Given the description of an element on the screen output the (x, y) to click on. 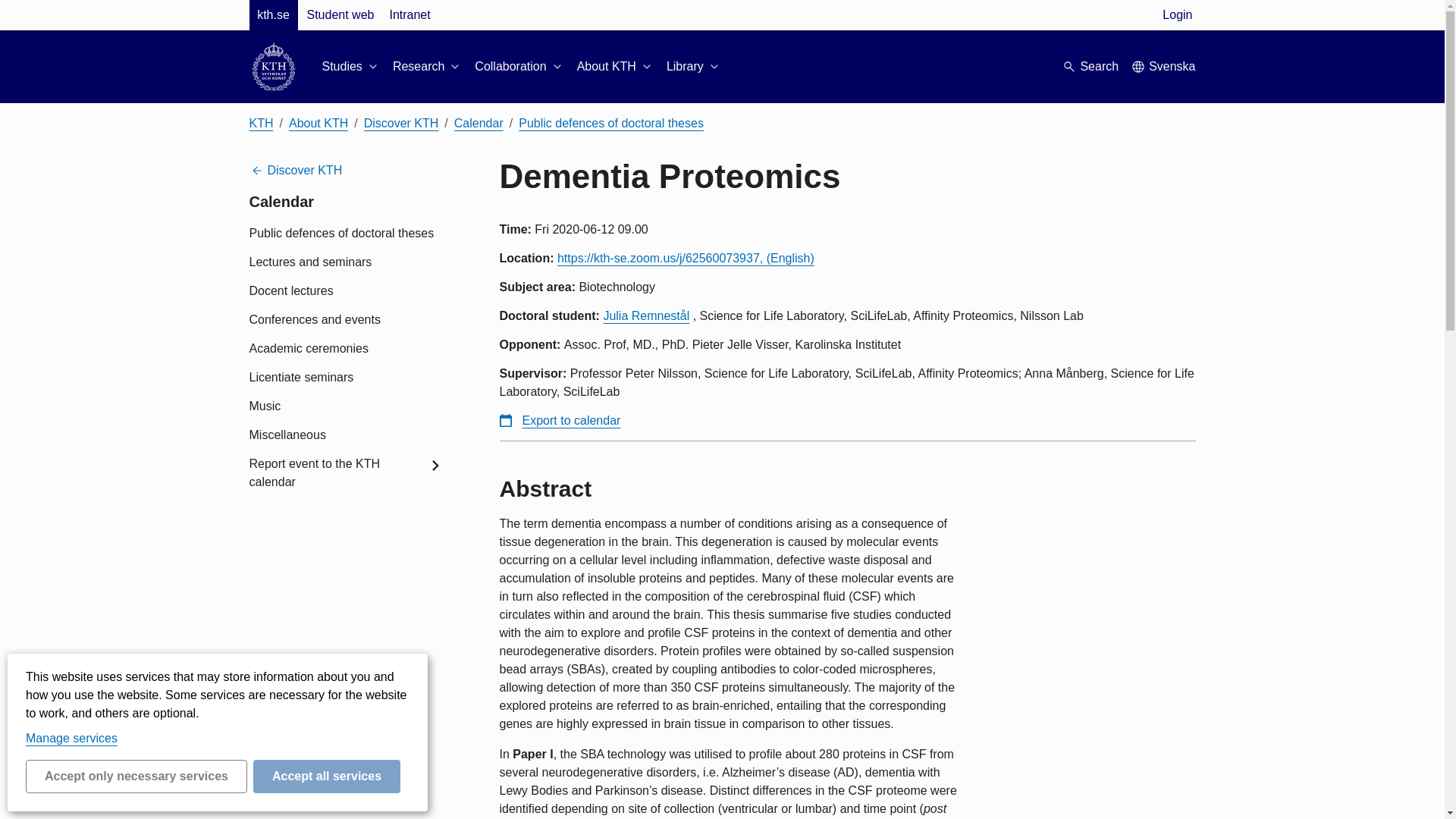
kth.se (272, 15)
Library (694, 66)
Collaboration (519, 66)
Research (428, 66)
Studies (350, 66)
About KTH (614, 66)
Intranet (408, 15)
Student web (339, 15)
Login (1176, 15)
